Given the description of an element on the screen output the (x, y) to click on. 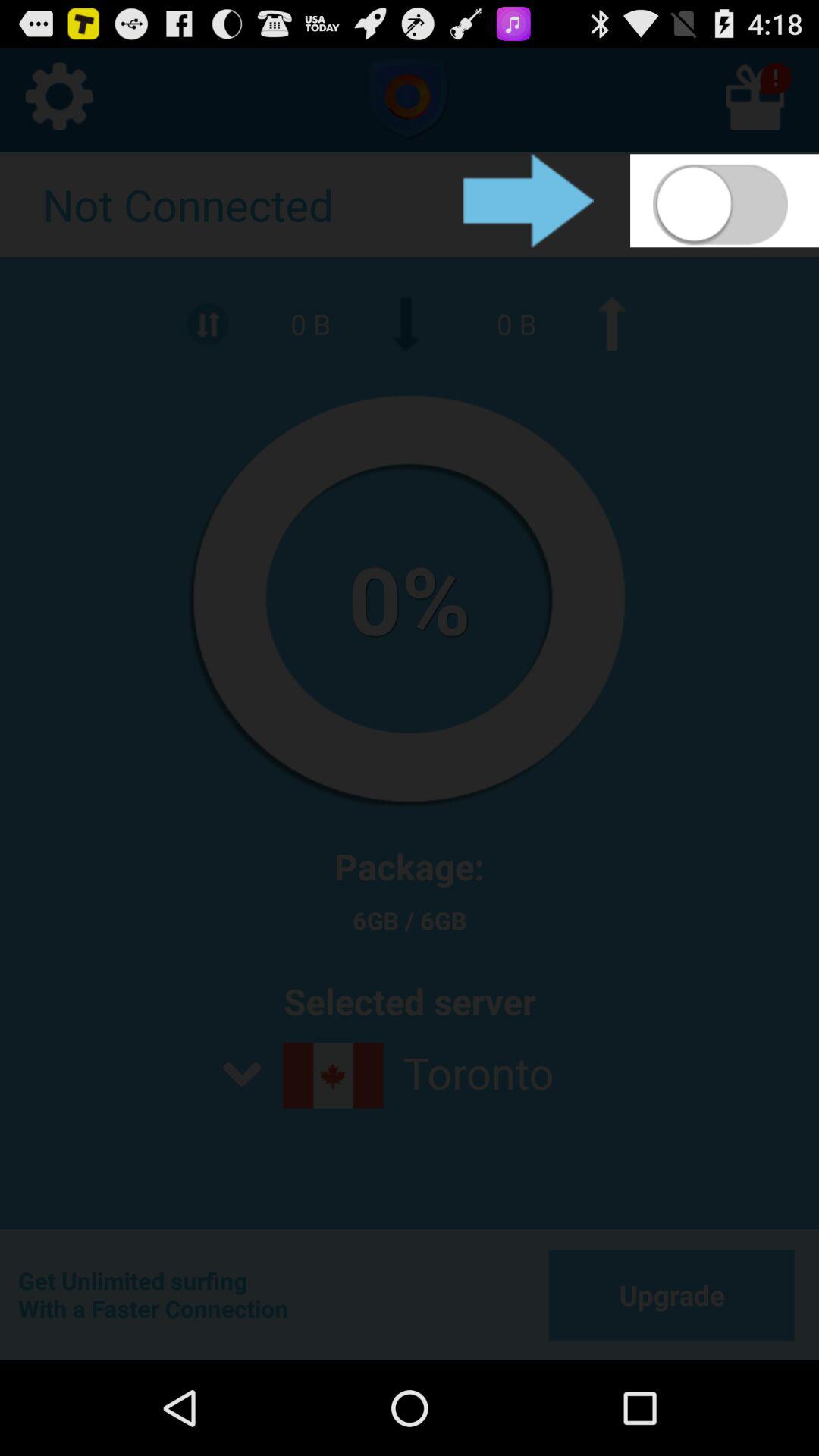
turn on mobile data (724, 200)
